Given the description of an element on the screen output the (x, y) to click on. 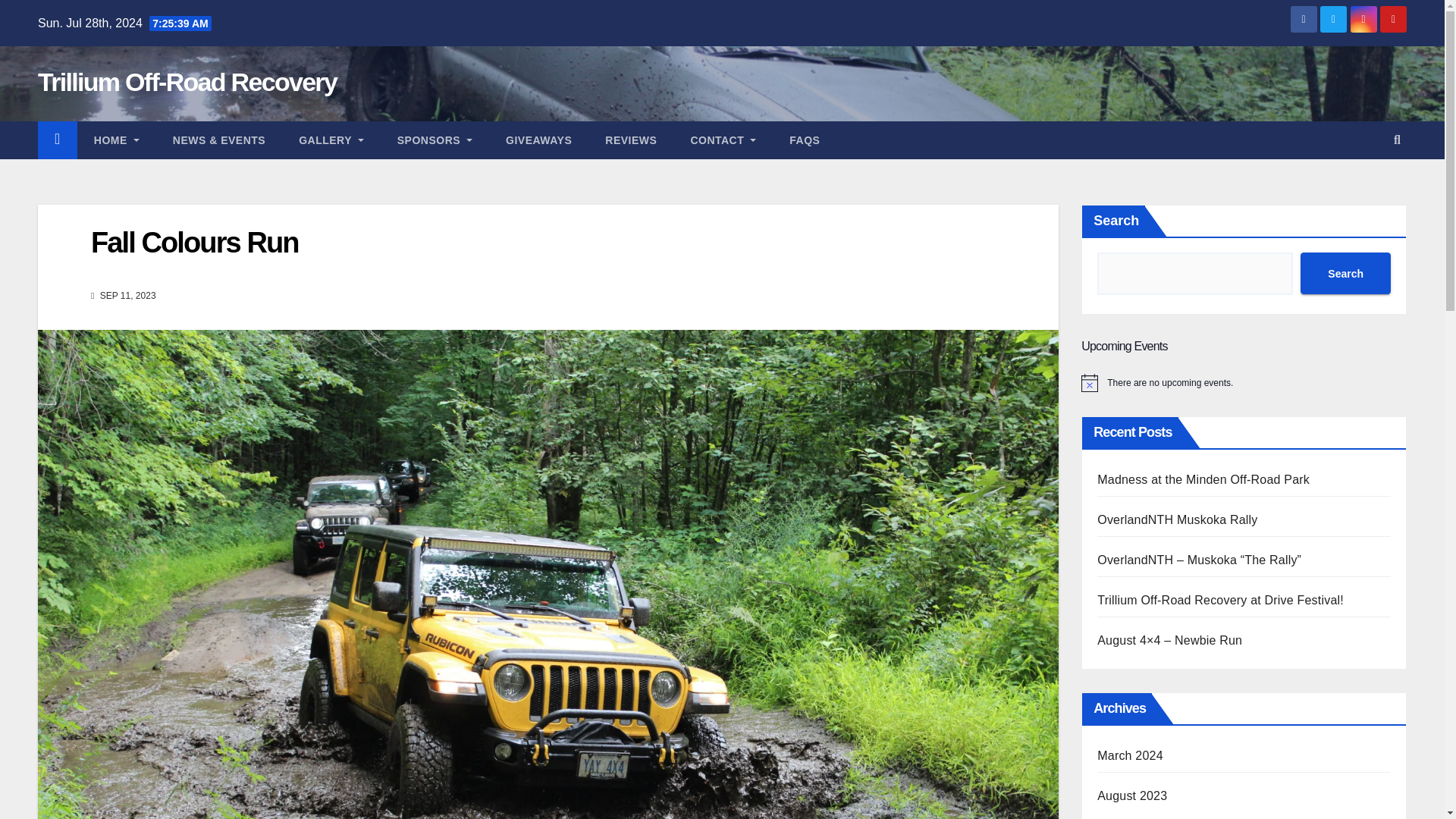
Fall Colours Run (194, 242)
Search (1345, 273)
Trillium Off-Road Recovery (186, 81)
Giveaways (538, 139)
SPONSORS (434, 139)
CONTACT (722, 139)
Contact (722, 139)
Madness at the Minden Off-Road Park (1202, 479)
REVIEWS (630, 139)
Permalink to: Fall Colours Run (194, 242)
HOME (116, 139)
Home (116, 139)
FAQs (804, 139)
GIVEAWAYS (538, 139)
GALLERY (331, 139)
